Given the description of an element on the screen output the (x, y) to click on. 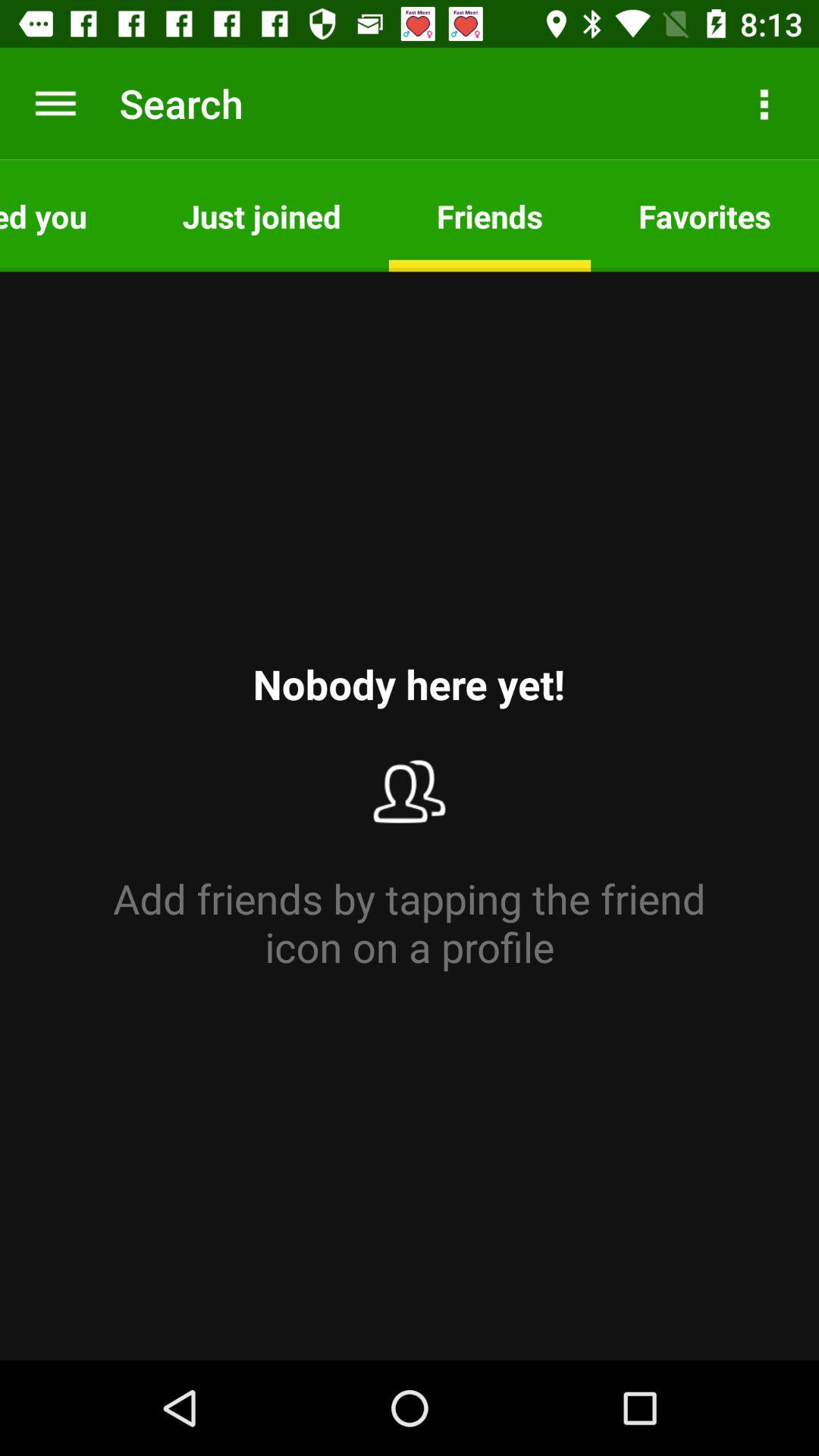
press the icon above the add friends by item (704, 215)
